Given the description of an element on the screen output the (x, y) to click on. 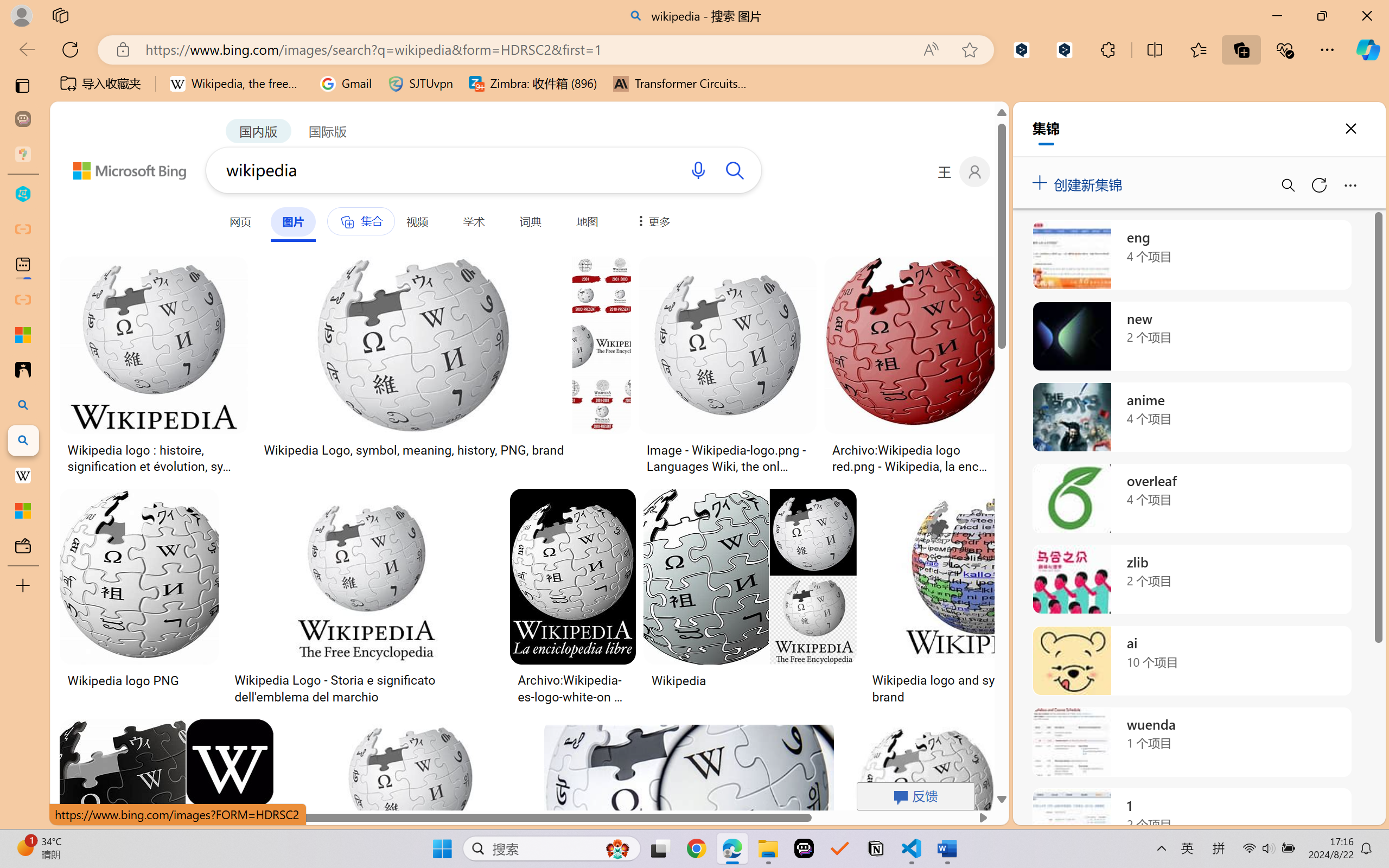
wangyian_dsw - DSW (22, 194)
Transformer Circuits Thread (680, 83)
